Given the description of an element on the screen output the (x, y) to click on. 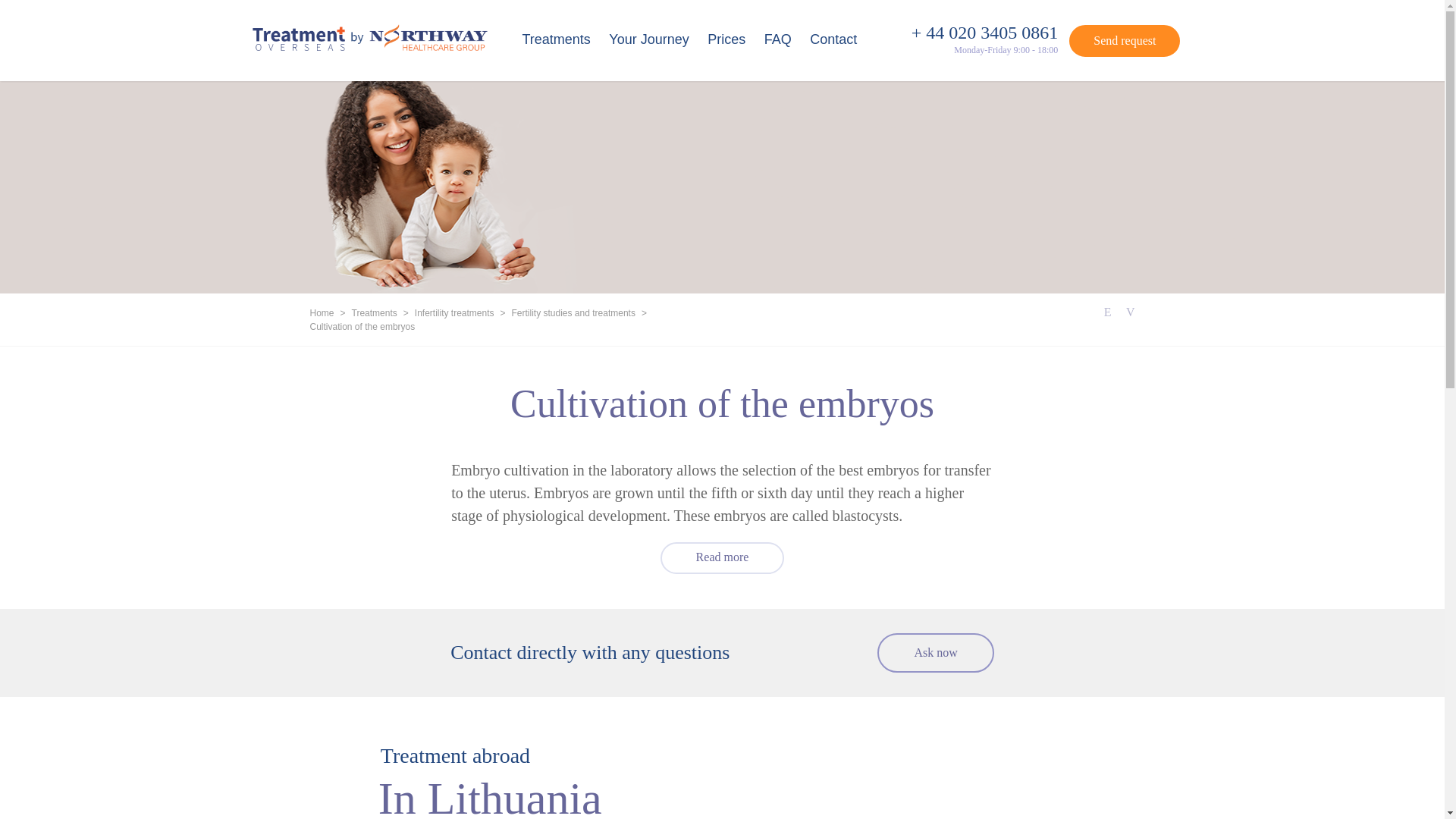
Home (320, 313)
Treatments (555, 38)
Contact (833, 38)
Your Journey (648, 38)
FAQ (778, 38)
Cultivation of the embryos (361, 327)
Treatments (374, 313)
Infertility treatments (454, 313)
Fertility studies and treatments (573, 313)
Home (320, 313)
Prices (726, 38)
Send request (1123, 40)
